Given the description of an element on the screen output the (x, y) to click on. 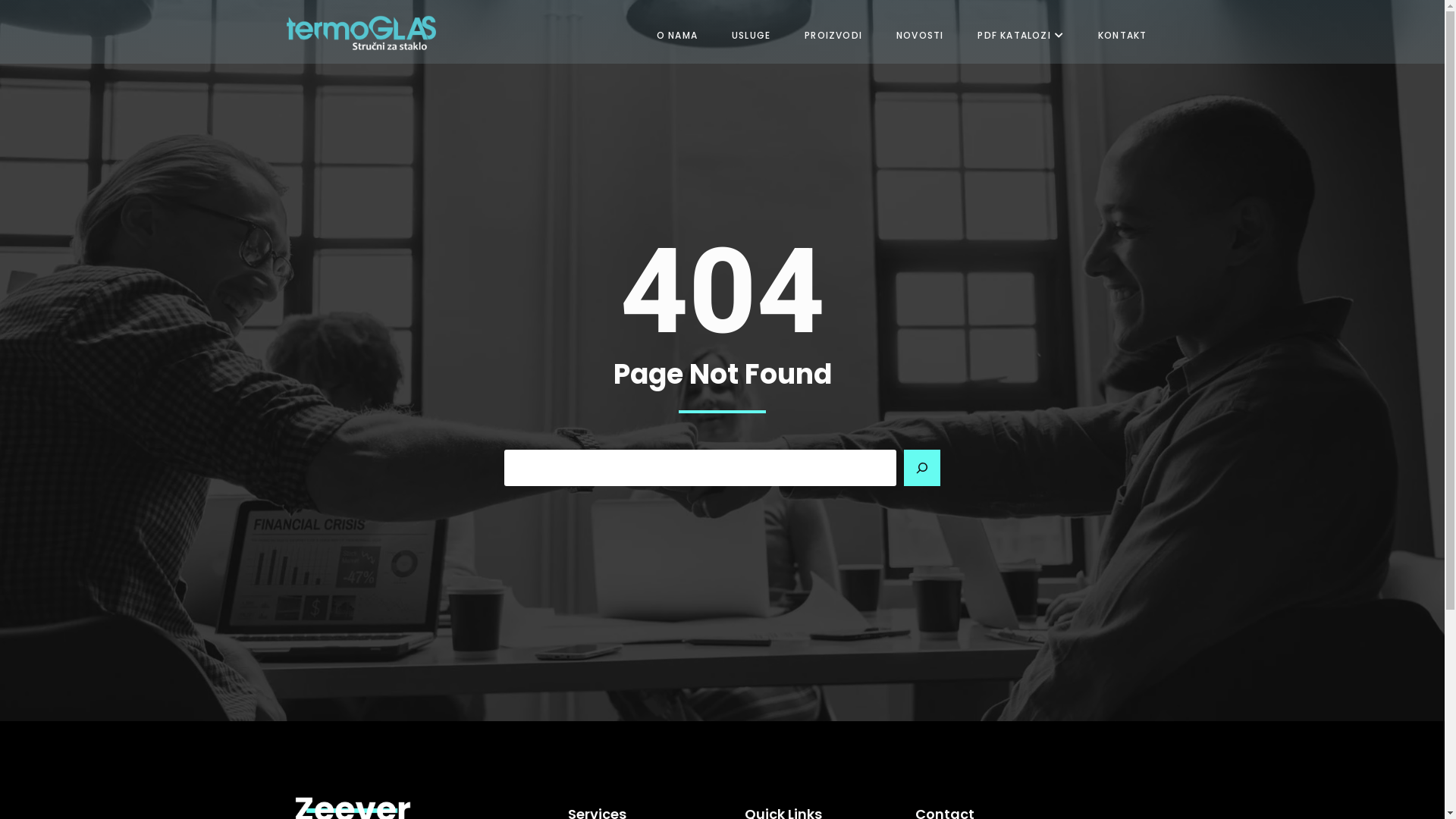
PDF KATALOZI Element type: text (1014, 35)
NOVOSTI Element type: text (913, 35)
PROIZVODI Element type: text (827, 35)
KONTAKT Element type: text (1116, 35)
O NAMA Element type: text (671, 35)
USLUGE Element type: text (745, 35)
